Given the description of an element on the screen output the (x, y) to click on. 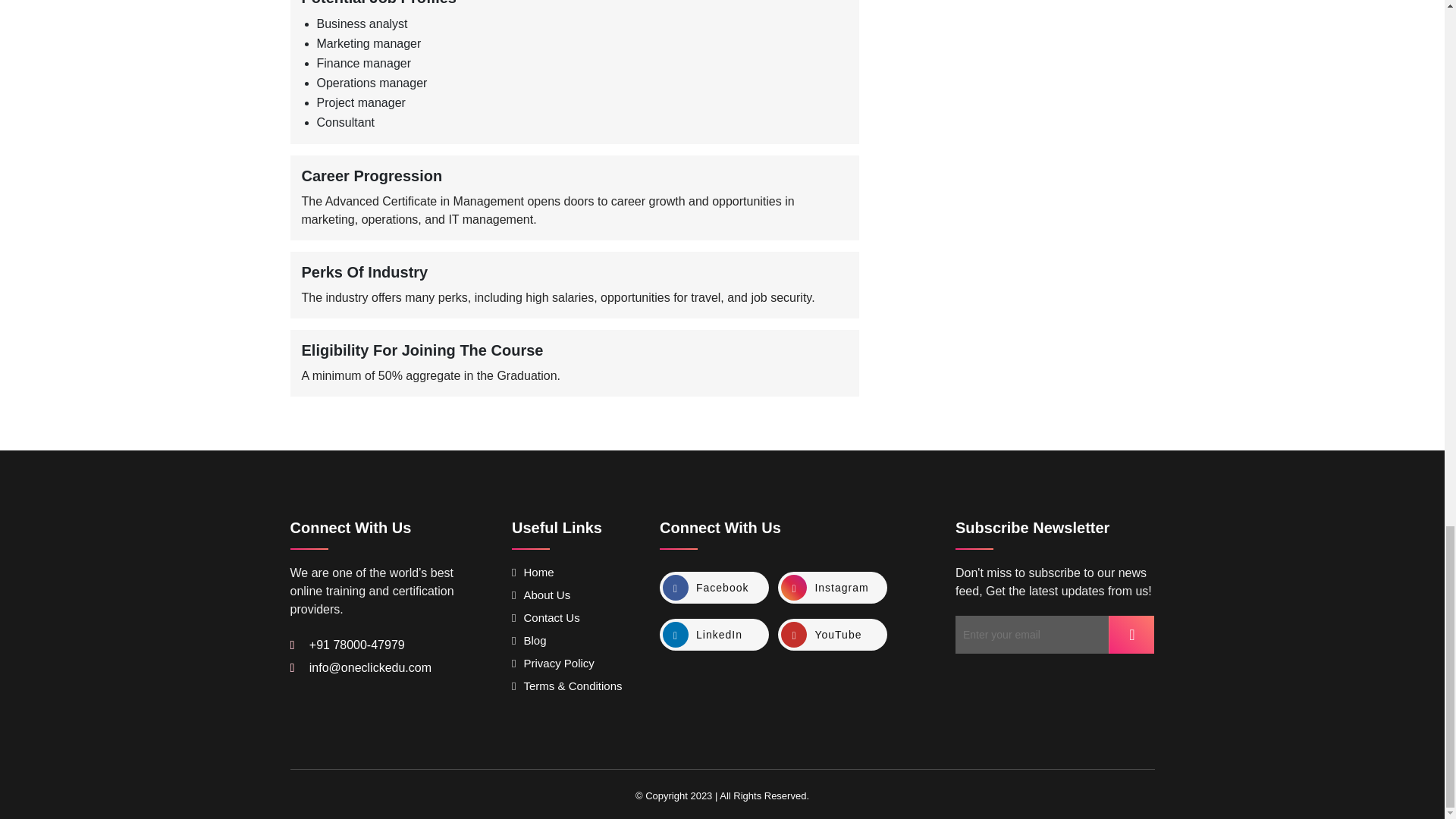
YouTube (831, 634)
LinkedIn (713, 634)
Blog (529, 640)
Home (533, 571)
Contact Us (545, 617)
Facebook (713, 587)
Instagram (831, 587)
Privacy Policy (553, 662)
About Us (541, 594)
